Given the description of an element on the screen output the (x, y) to click on. 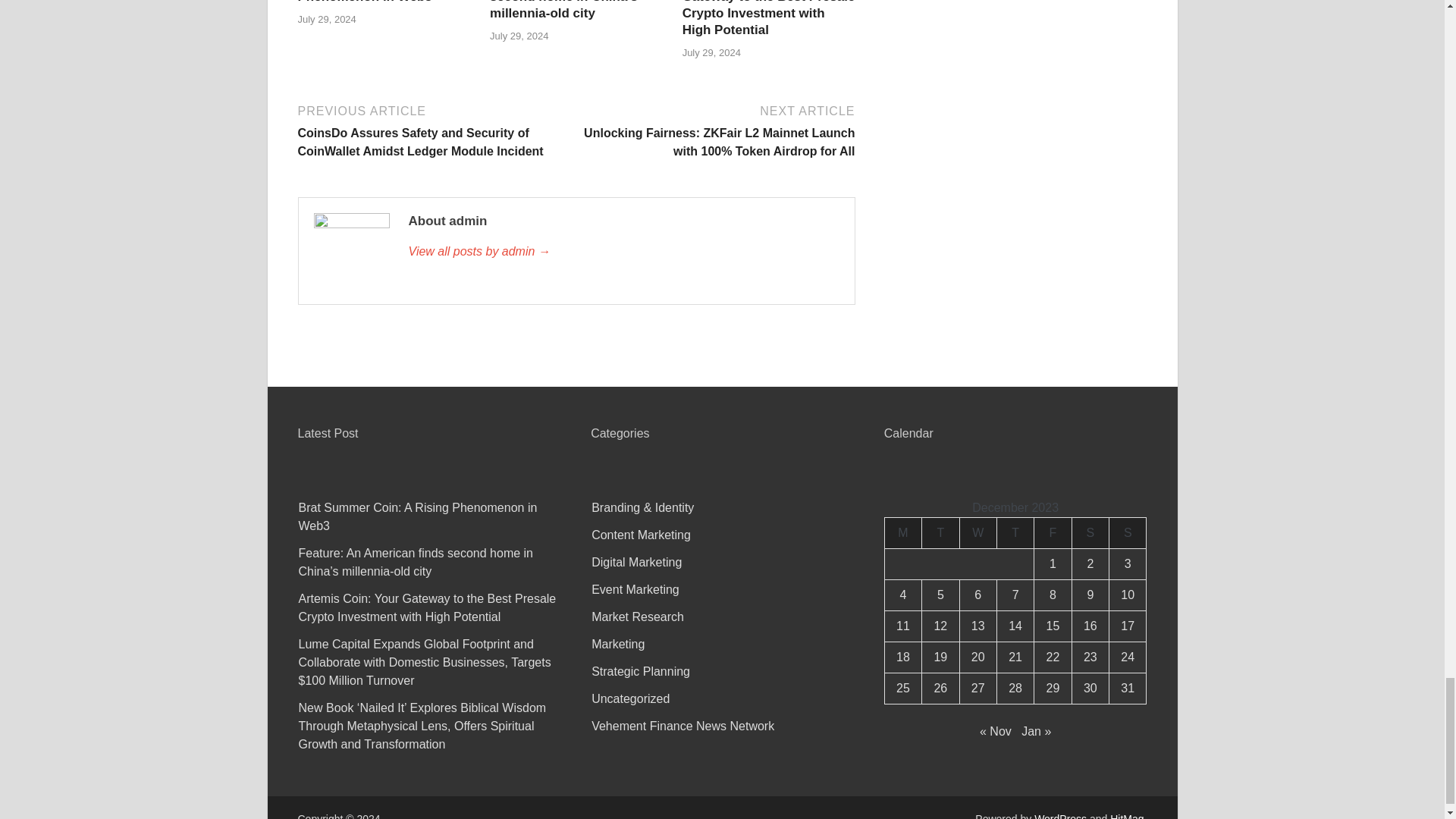
Saturday (1089, 532)
Sunday (1128, 532)
Monday (902, 532)
Wednesday (977, 532)
admin (622, 251)
Brat Summer Coin: A Rising Phenomenon in Web3 (382, 2)
Thursday (1014, 532)
Brat Summer Coin: A Rising Phenomenon in Web3 (382, 2)
Tuesday (940, 532)
Friday (1052, 532)
